Given the description of an element on the screen output the (x, y) to click on. 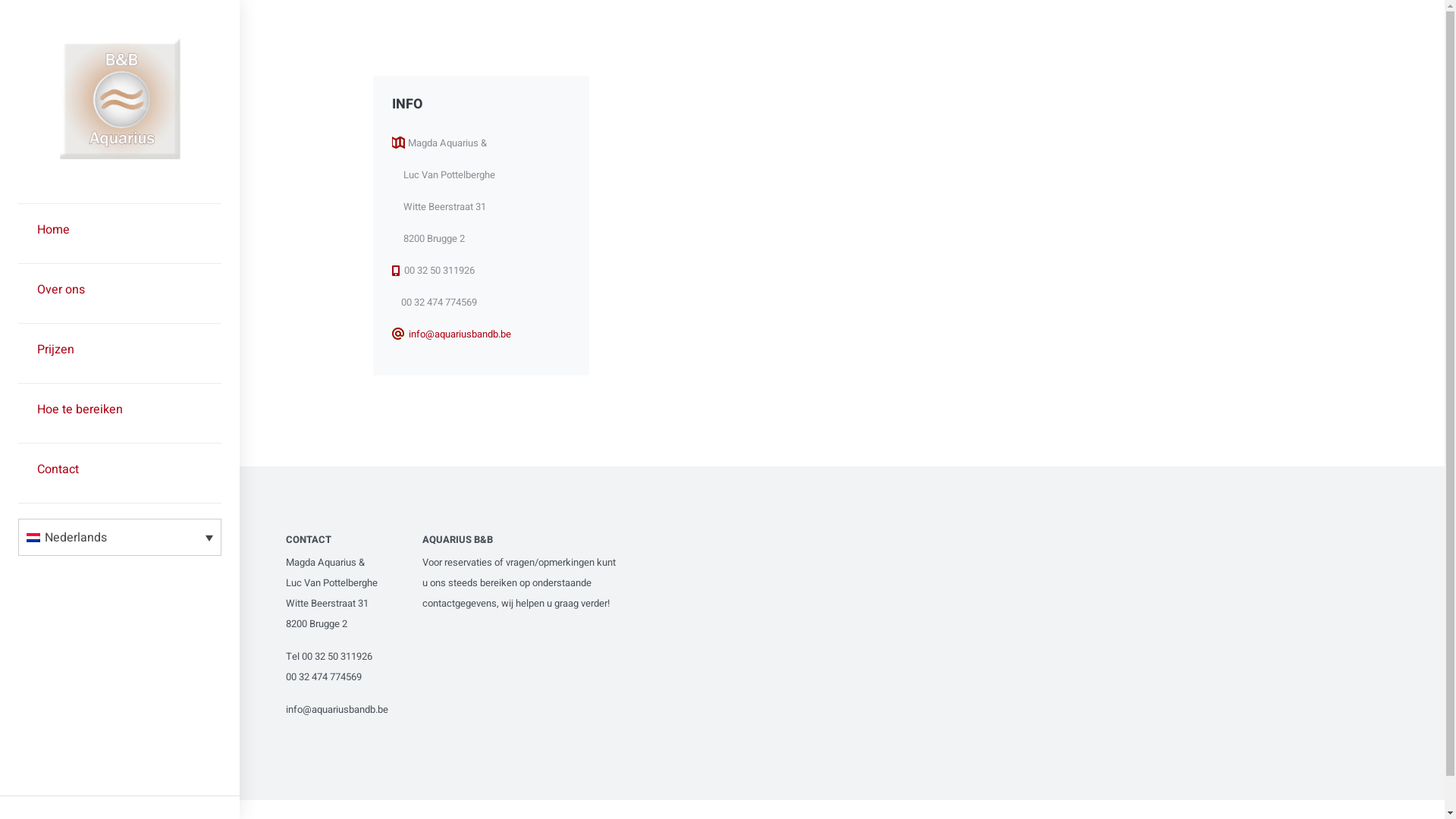
Contact Element type: text (119, 472)
info@aquariusbandb.be Element type: text (336, 709)
Nederlands Element type: text (119, 536)
Guestroom Aquarius Element type: hover (120, 155)
Home Element type: text (119, 233)
Hoe te bereiken Element type: text (119, 412)
00 32 474 774569 Element type: text (323, 676)
00 32 50 311926 Element type: text (336, 656)
info@aquariusbandb.be Element type: text (459, 333)
Prijzen Element type: text (119, 353)
Over ons Element type: text (119, 293)
